Given the description of an element on the screen output the (x, y) to click on. 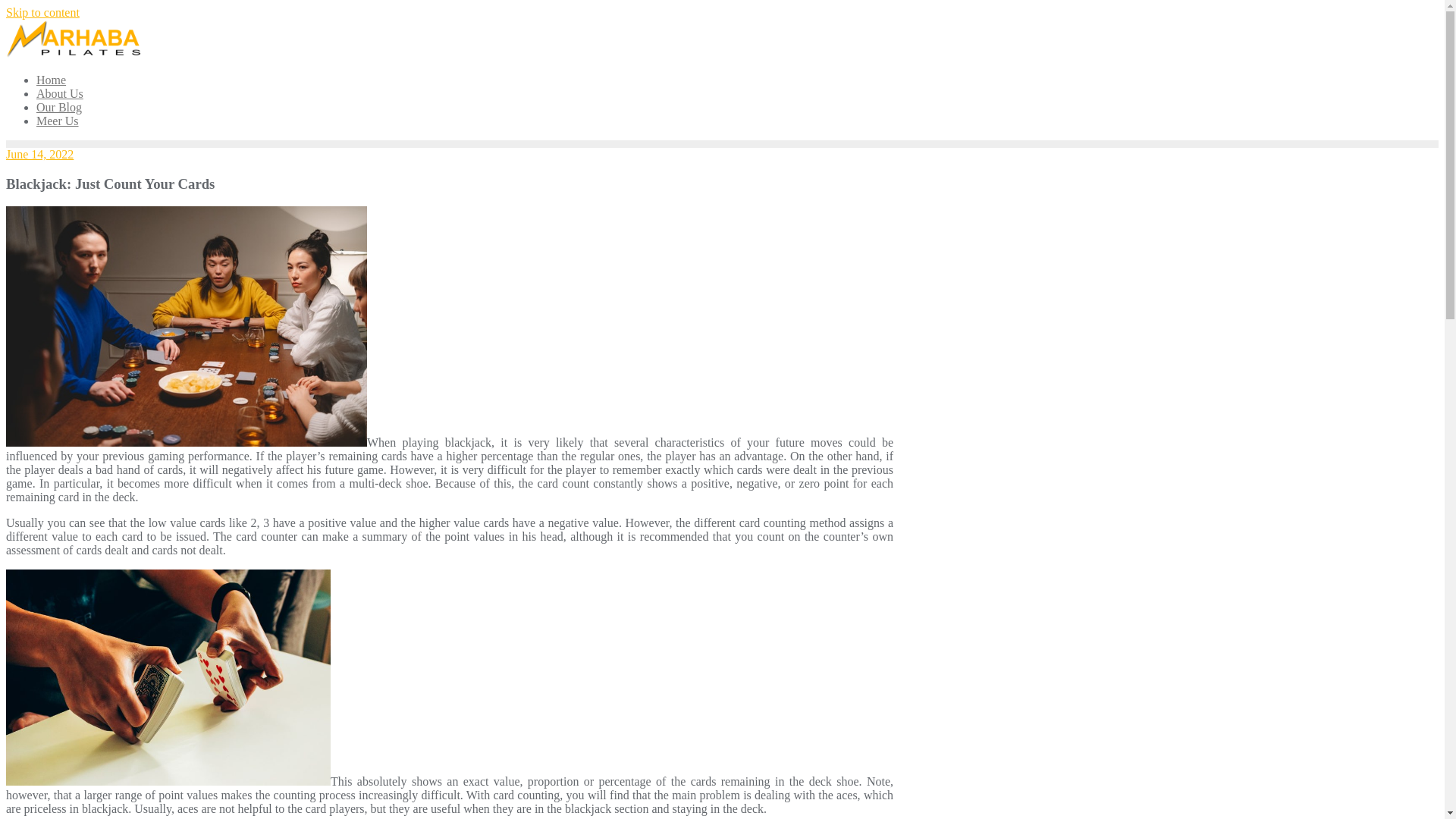
June 14, 2022 (39, 154)
Skip to content (42, 11)
About Us (59, 92)
Meer Us (57, 120)
Our Blog (58, 106)
Home (50, 79)
